Given the description of an element on the screen output the (x, y) to click on. 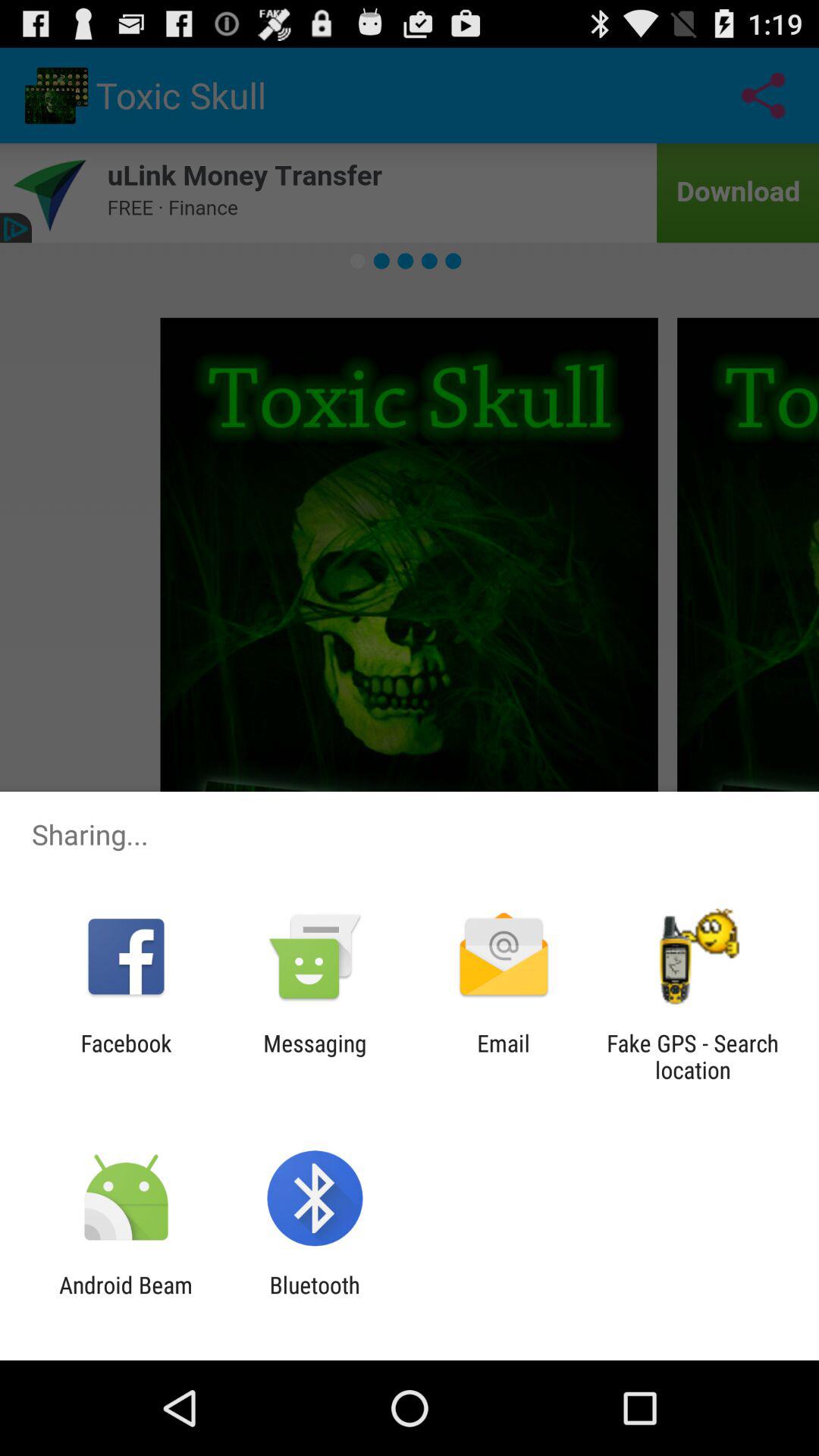
press the email icon (503, 1056)
